Given the description of an element on the screen output the (x, y) to click on. 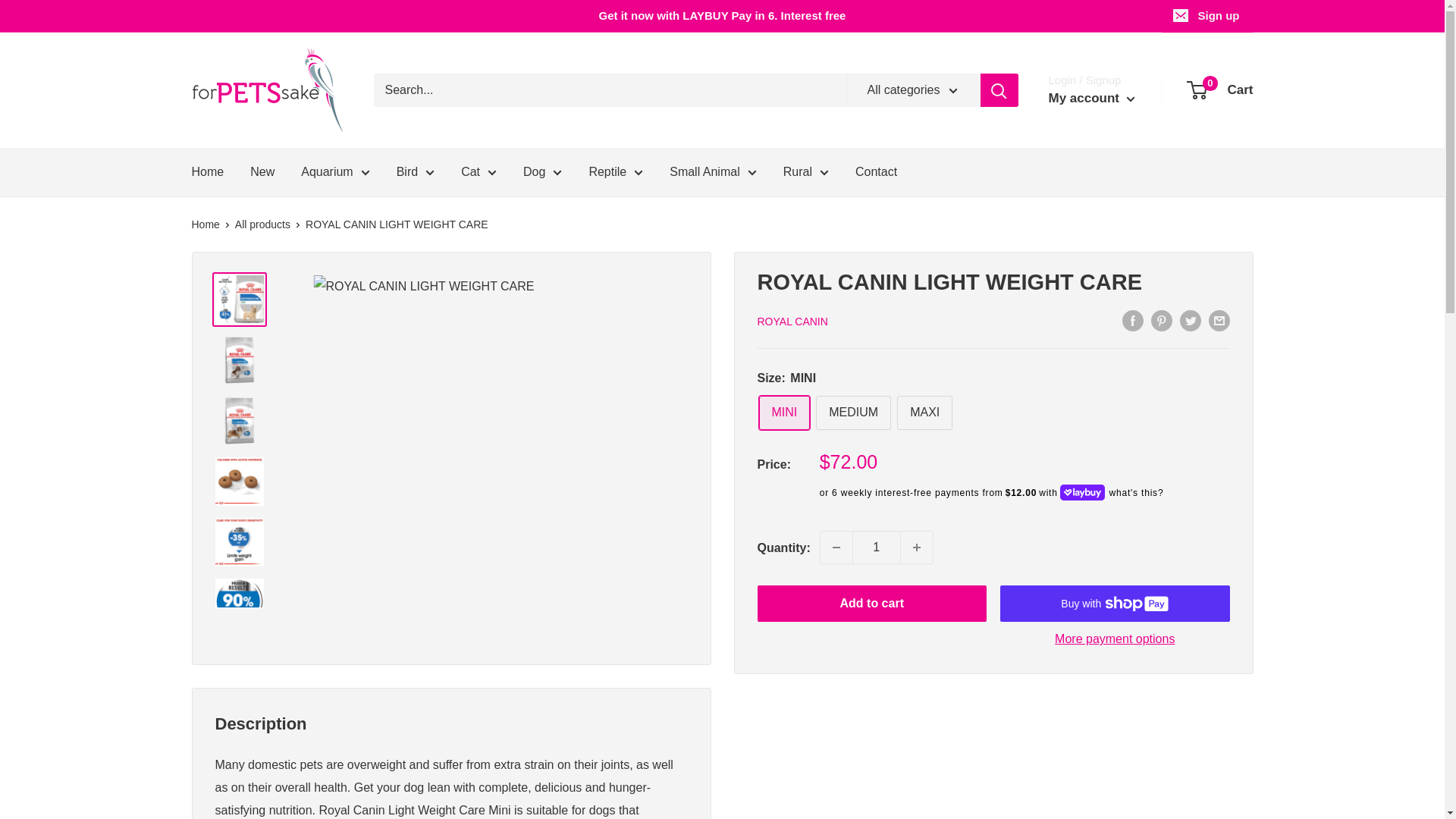
Increase quantity by 1 (917, 547)
MEDIUM (853, 412)
1 (876, 547)
Sign up (1206, 15)
MAXI (924, 412)
Decrease quantity by 1 (836, 547)
MINI (783, 412)
